Given the description of an element on the screen output the (x, y) to click on. 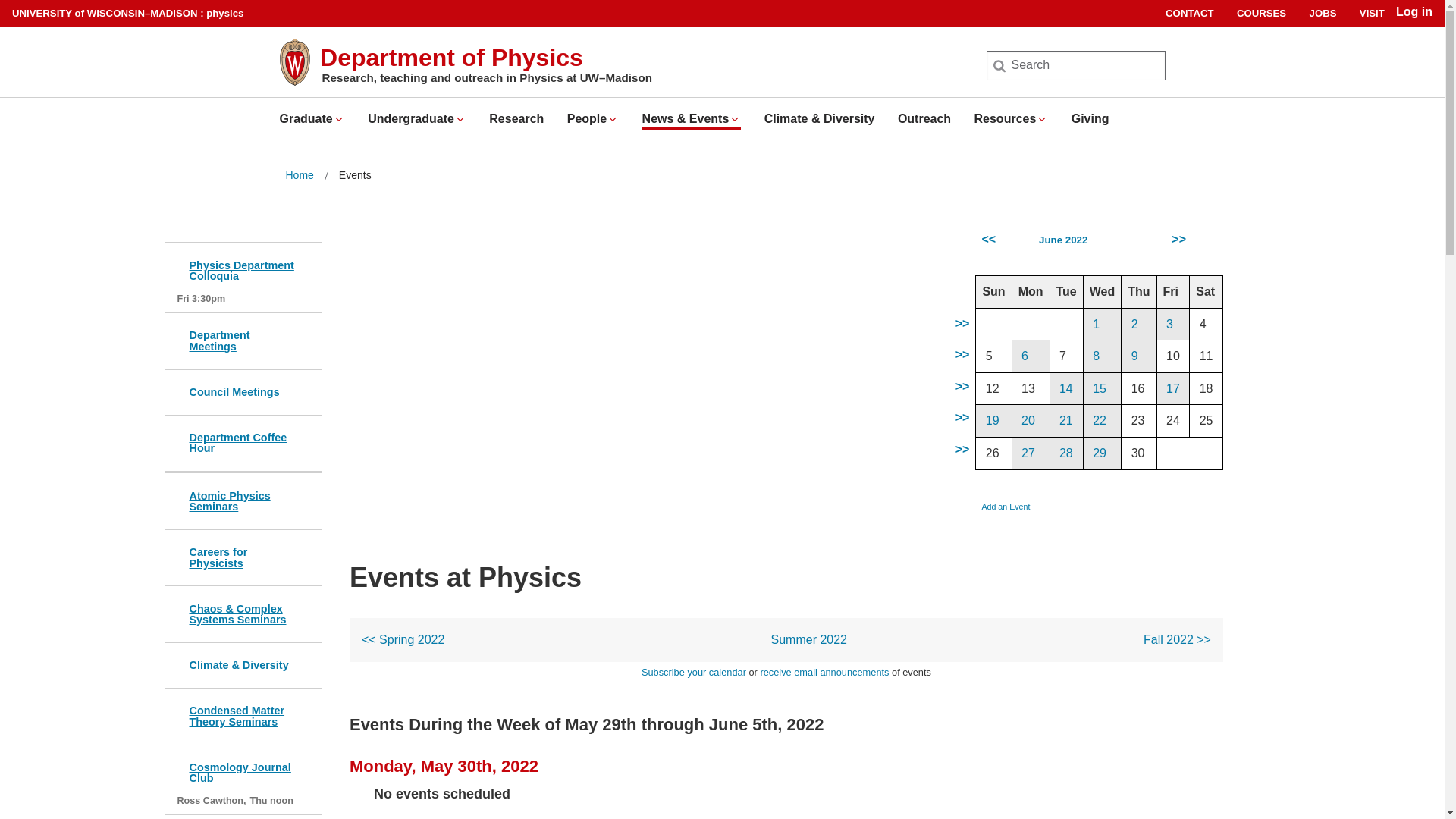
Graduate Expand (311, 118)
Expand (612, 119)
physics (224, 12)
Undergraduate Expand (416, 118)
Department of Physics (451, 57)
Search (37, 16)
Skip to main content (3, 3)
Expand (1041, 119)
Expand (735, 119)
People Expand (592, 118)
